Given the description of an element on the screen output the (x, y) to click on. 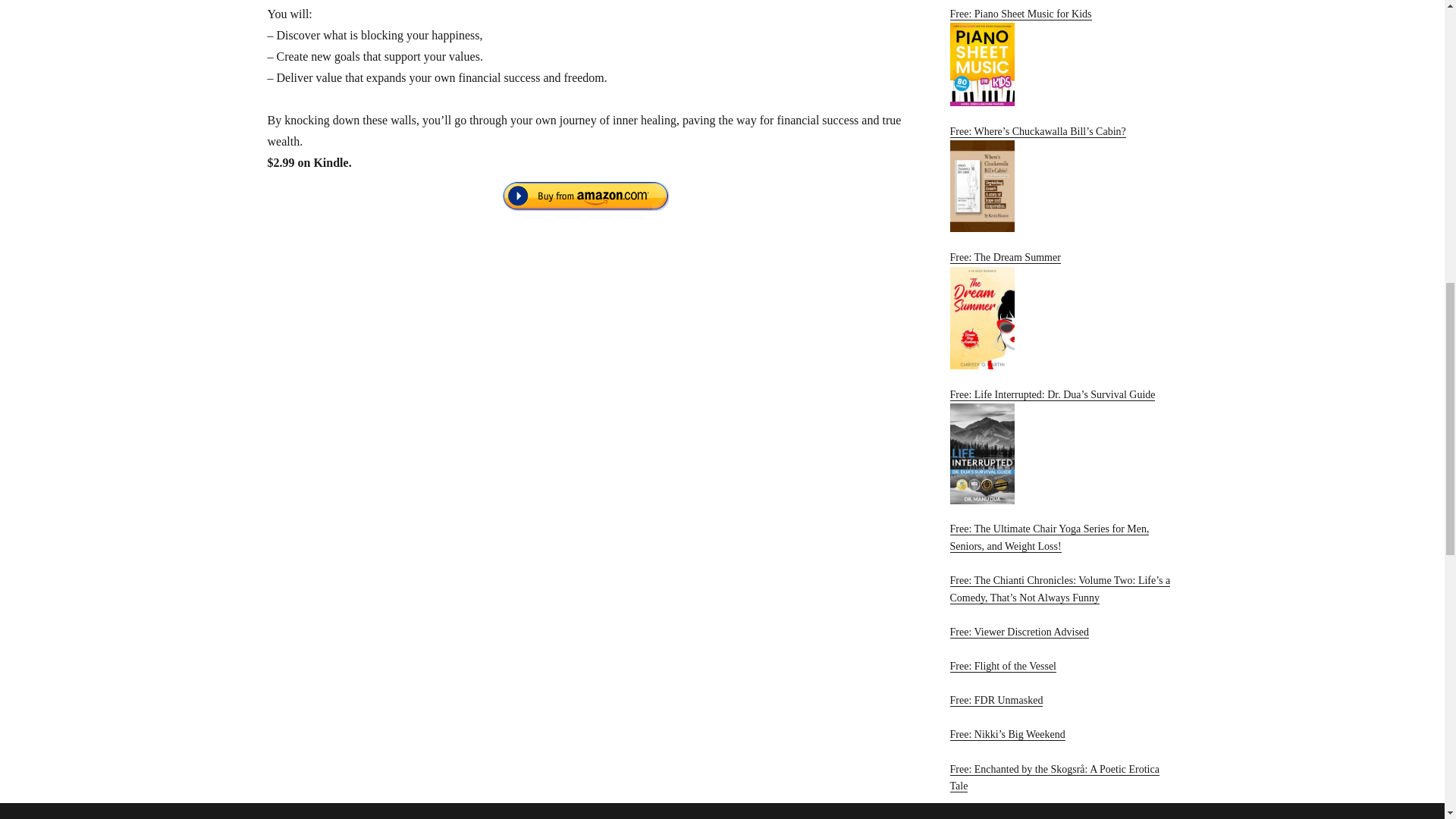
Free: The Dream Summer (1062, 310)
Free: FDR Unmasked (995, 699)
Free: Piano Sheet Music for Kids (1062, 57)
Free: Flight of the Vessel (1003, 665)
Free: Viewer Discretion Advised (1019, 632)
